Given the description of an element on the screen output the (x, y) to click on. 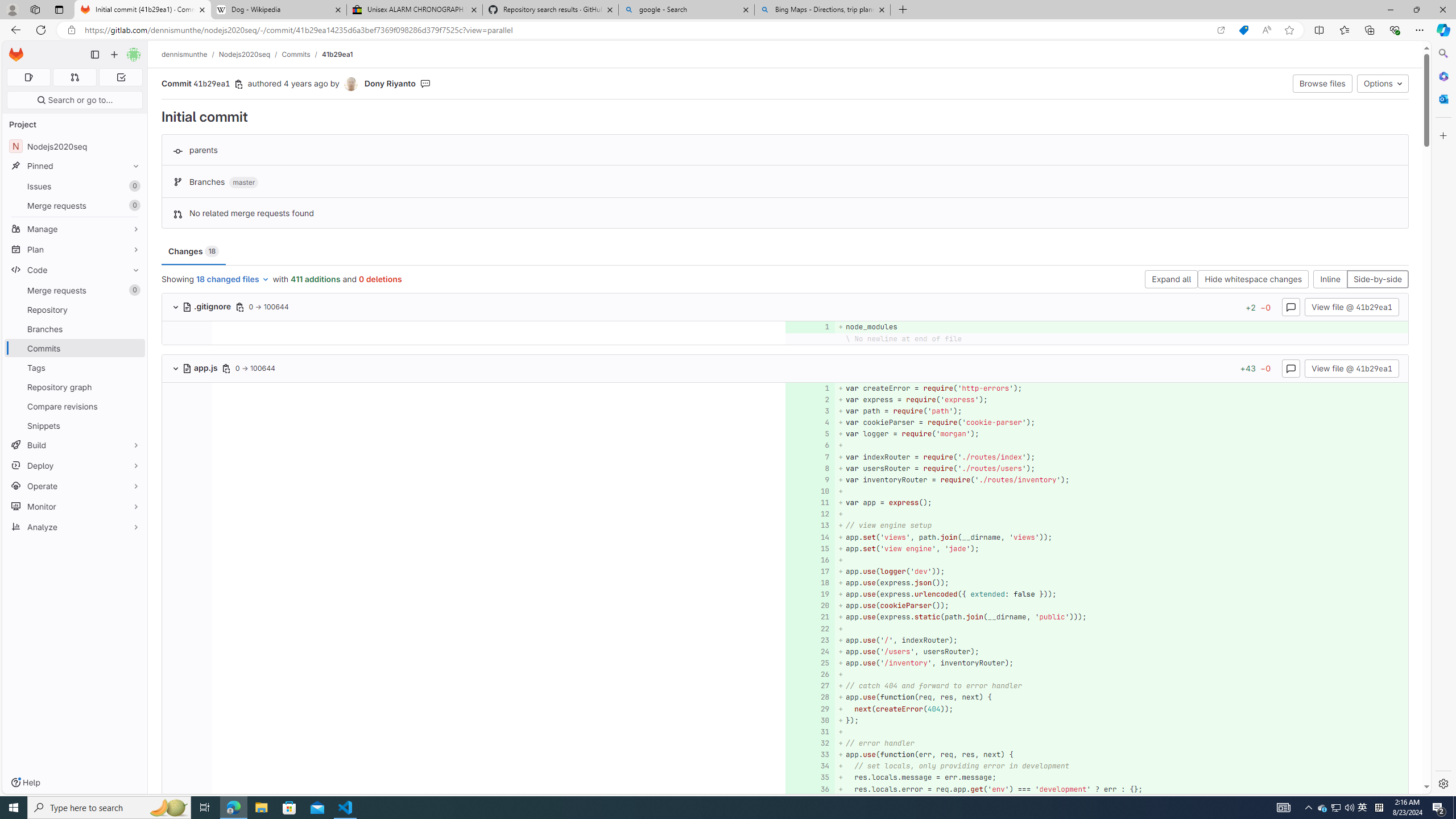
4 (808, 422)
google - Search (685, 9)
Add a comment to this line 16 (809, 559)
41b29ea1 (337, 53)
Add a comment to this line 28 (809, 697)
Add a comment to this line 29 (809, 708)
.gitignore  (207, 306)
Add a comment to this line 20 (809, 605)
Issues0 (74, 185)
Add a comment to this line 6 (809, 445)
Assigned issues 0 (28, 76)
Class: line_content parallel left-side (497, 788)
+ app.use('/users', usersRouter);  (1120, 651)
